Given the description of an element on the screen output the (x, y) to click on. 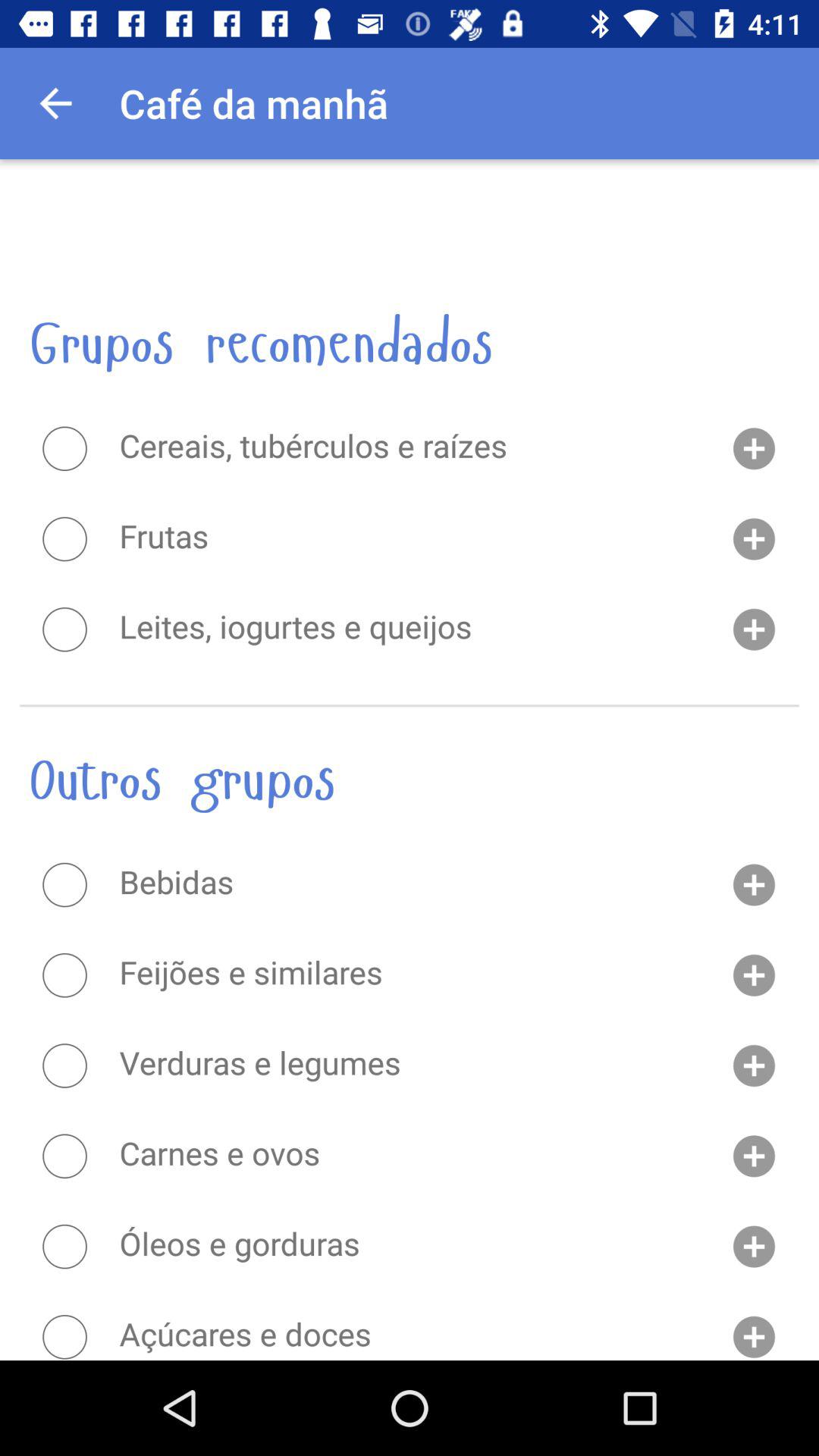
open the item above the grupos recomendados item (409, 220)
